Given the description of an element on the screen output the (x, y) to click on. 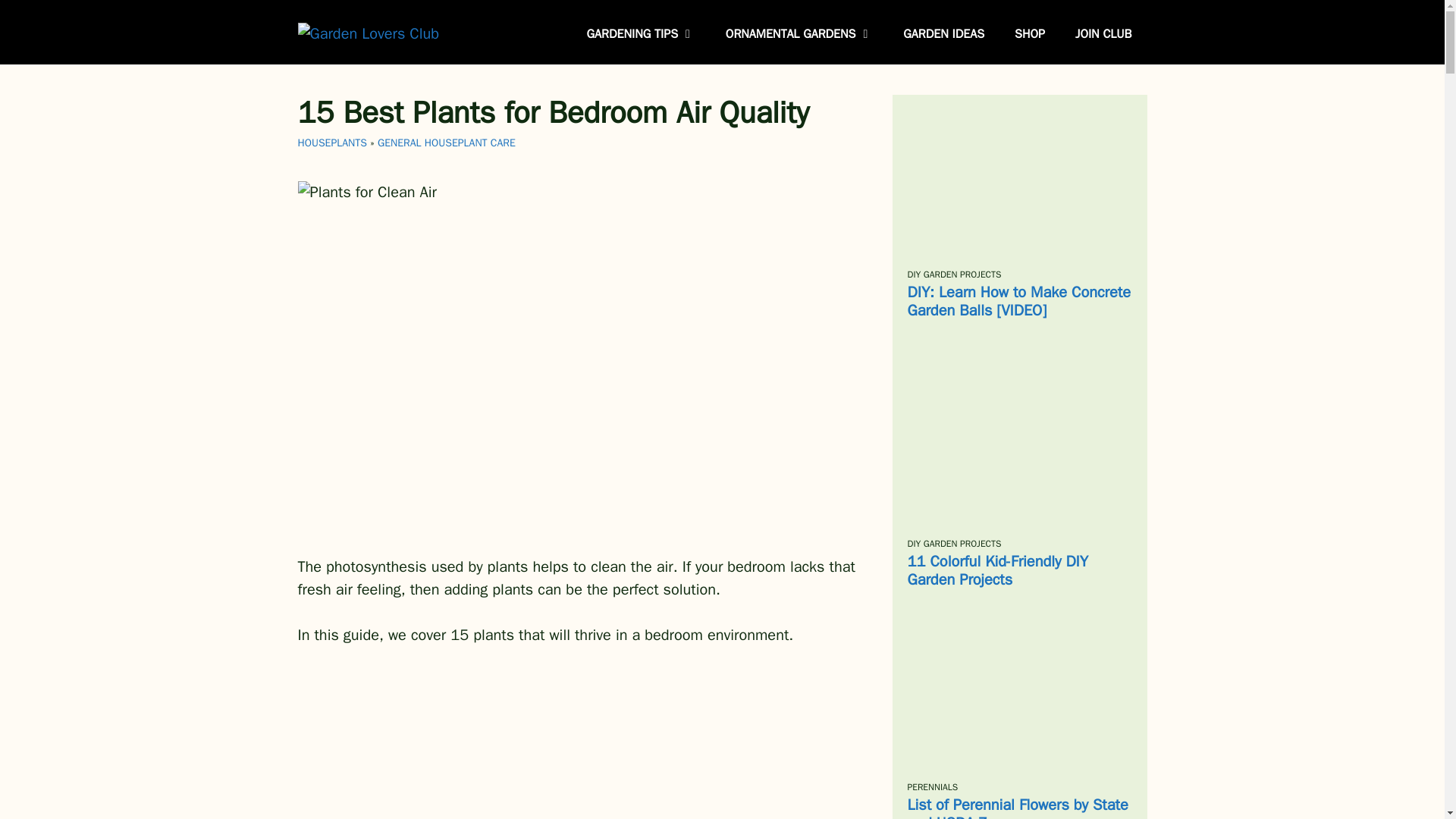
GARDENING TIPS (641, 33)
YouTube video player (579, 744)
ORNAMENTAL GARDENS (799, 33)
JOIN CLUB (1103, 33)
GARDEN IDEAS (943, 33)
SHOP (1028, 33)
